Given the description of an element on the screen output the (x, y) to click on. 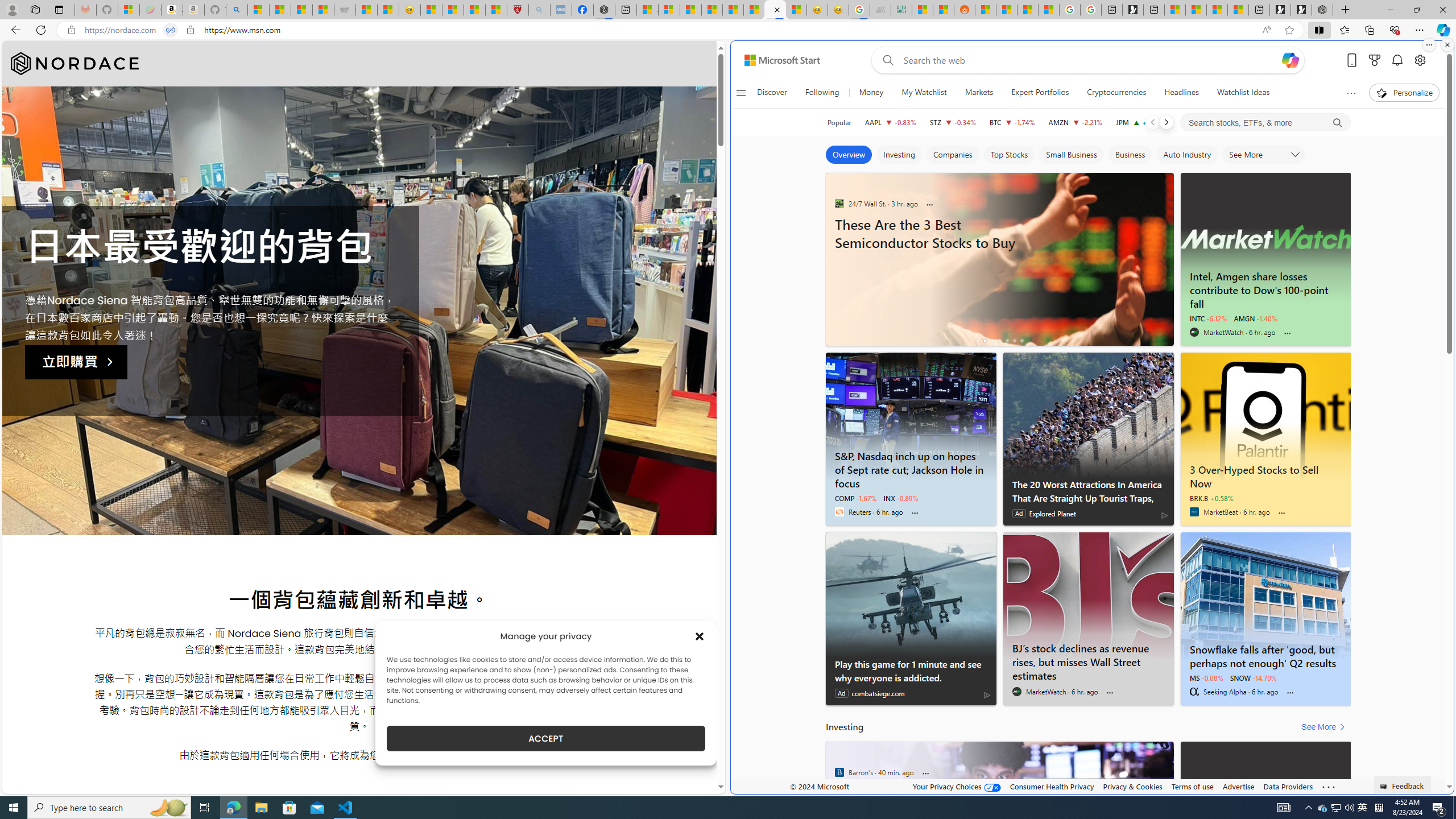
DITOGAMES AG Imprint (901, 9)
3 Over-Hyped Stocks to Sell Now - MarketBeat (1265, 416)
These 3 Stocks Pay You More Than 5% to Own Them (1238, 9)
Microsoft Start Gaming (1133, 9)
SNOW -14.70% (1253, 677)
24/7 Wall St. (839, 772)
Popular (839, 121)
